Given the description of an element on the screen output the (x, y) to click on. 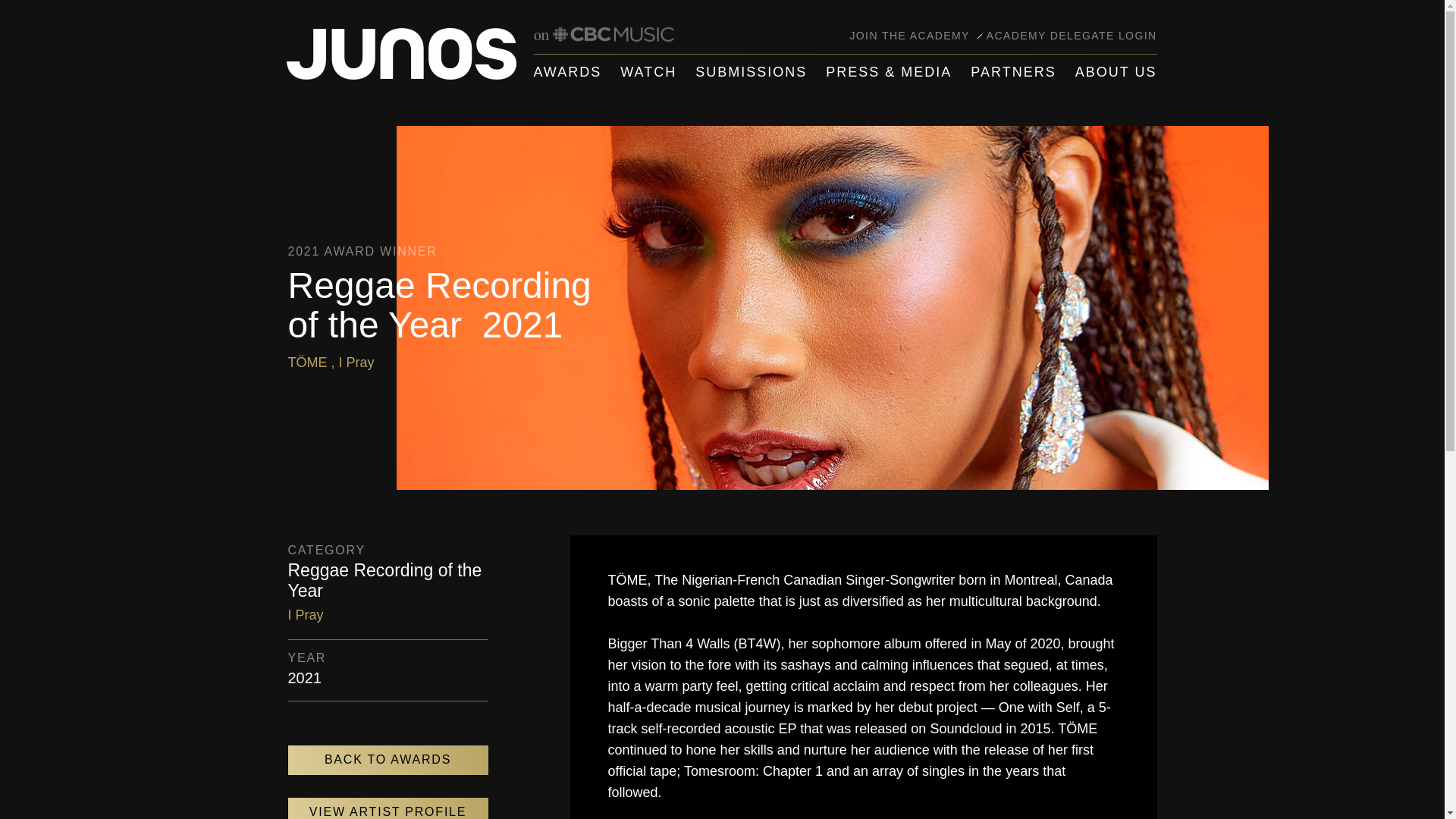
WATCH (648, 71)
JOIN THE ACADEMY (908, 35)
SUBMISSIONS (750, 71)
PARTNERS (1013, 71)
AWARDS (568, 71)
ACADEMY DELEGATE LOGIN (1072, 35)
